Given the description of an element on the screen output the (x, y) to click on. 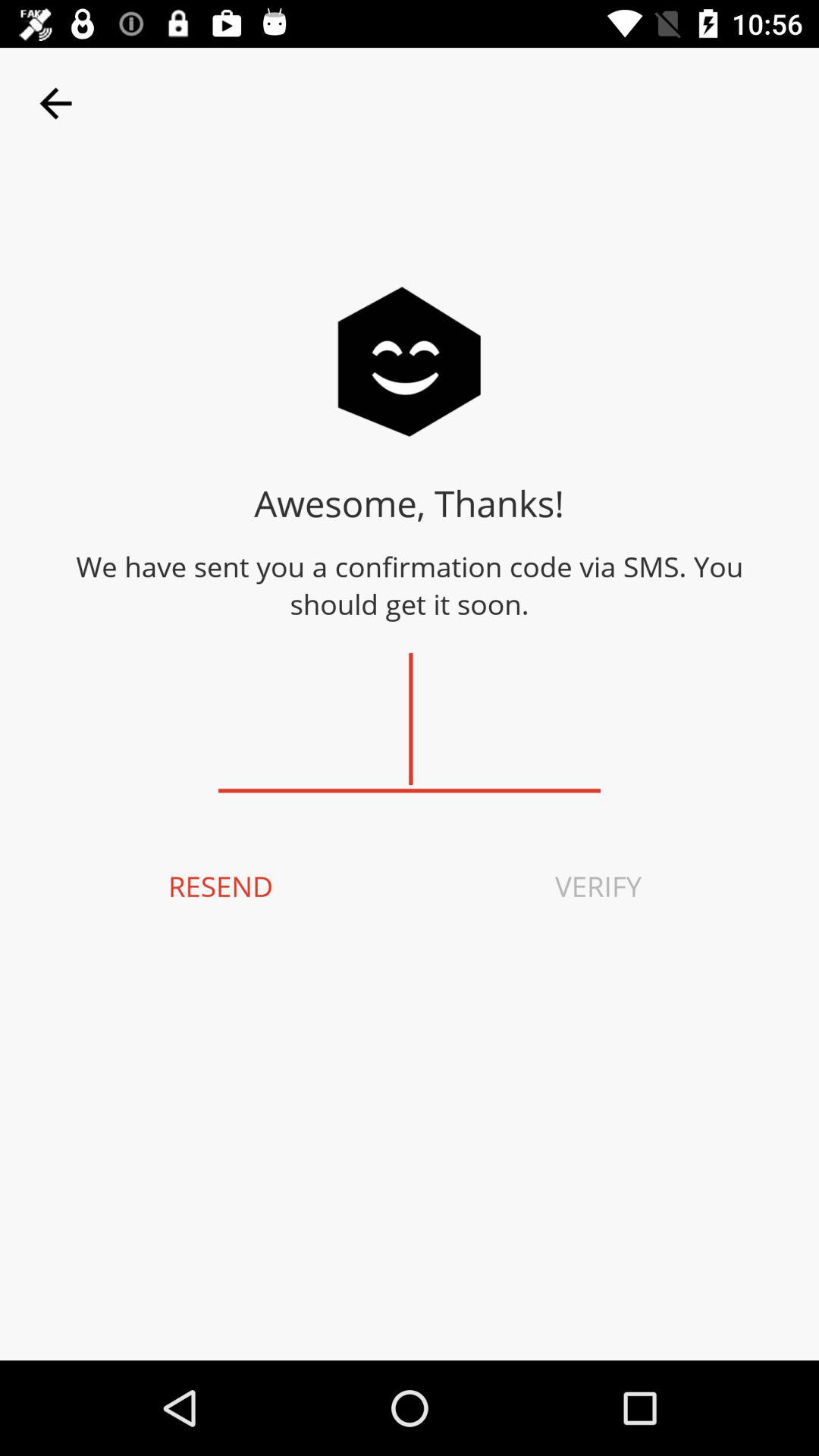
enter confirmation code (409, 719)
